Given the description of an element on the screen output the (x, y) to click on. 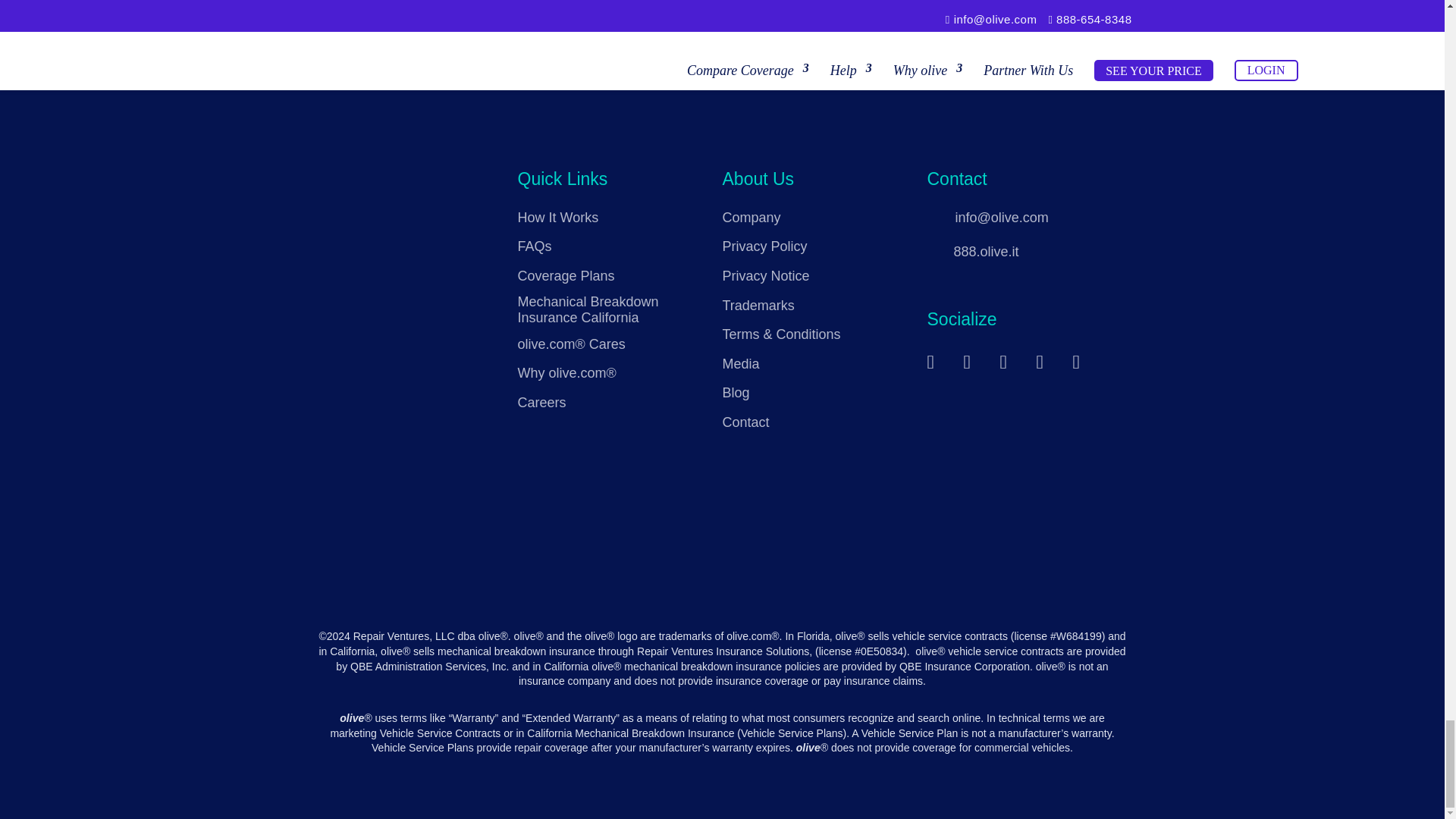
How It Works (557, 217)
Follow on Youtube (1086, 358)
Follow on LinkedIn (1050, 358)
olive-footer-logo-white (390, 200)
Follow on Instagram (941, 358)
Follow on Facebook (977, 358)
Follow on X (1013, 358)
FAQs (533, 246)
